Given the description of an element on the screen output the (x, y) to click on. 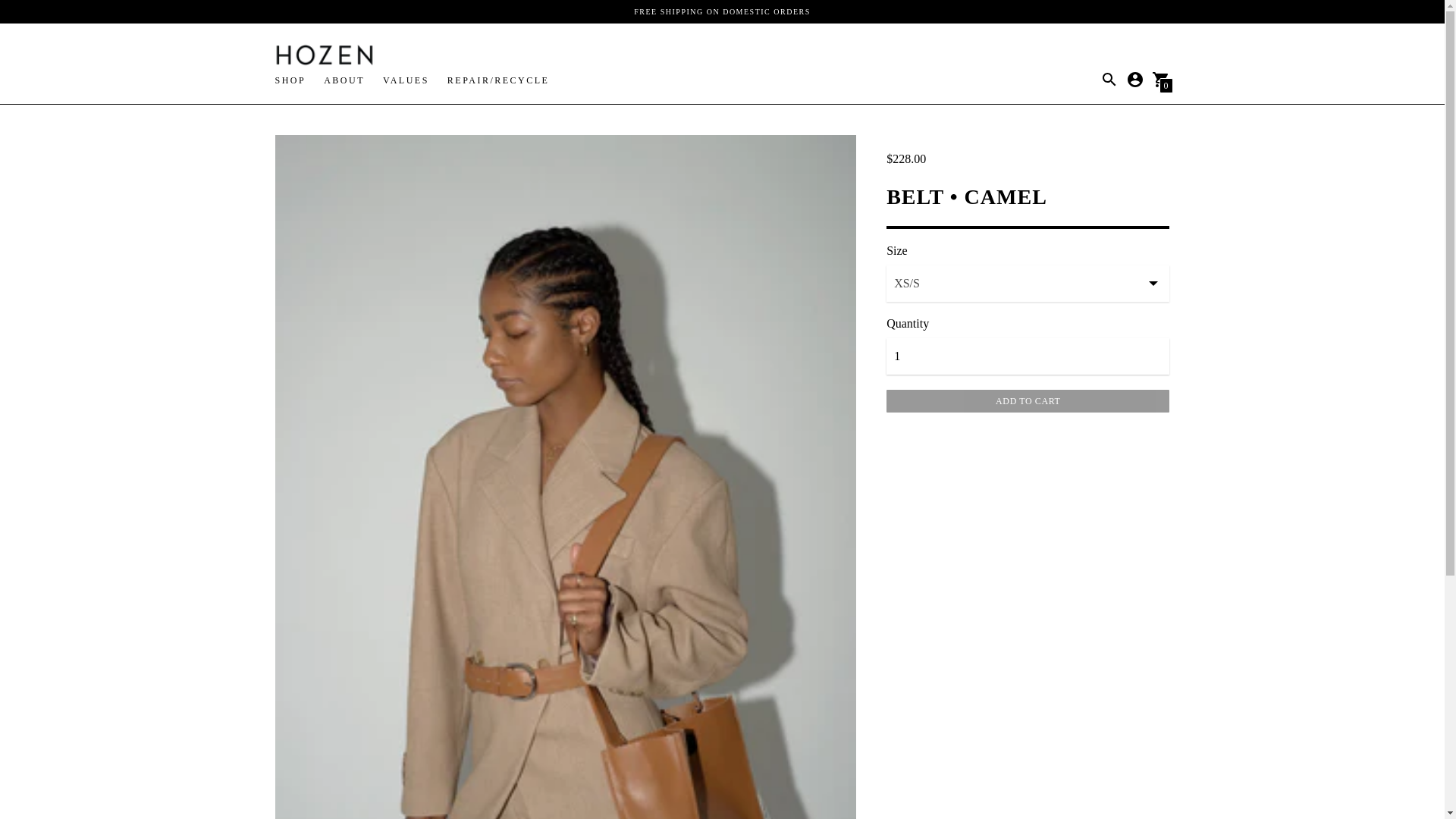
VALUES (405, 80)
SHOP (290, 80)
ABOUT (344, 80)
1 (1027, 356)
